Given the description of an element on the screen output the (x, y) to click on. 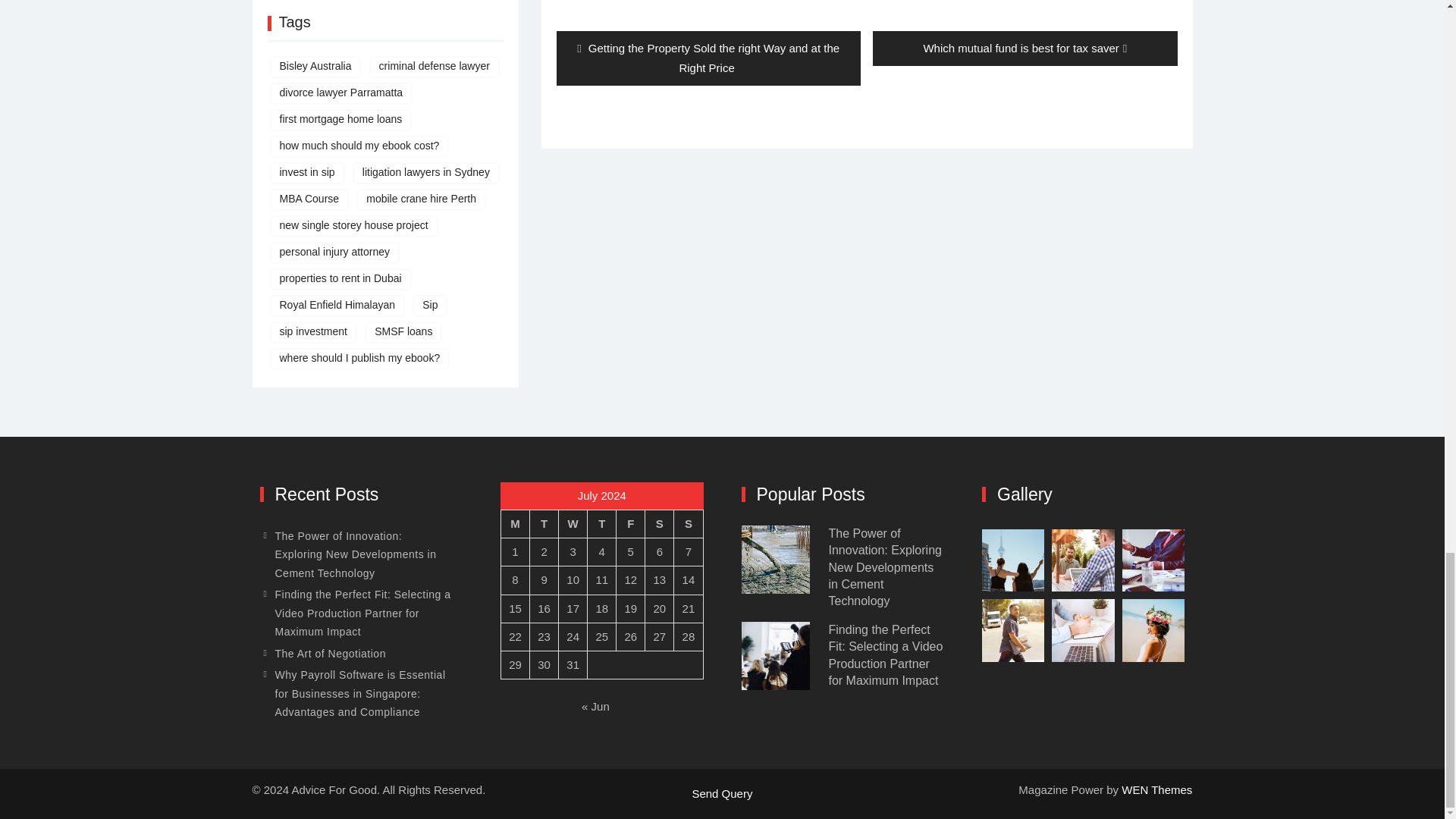
Friday (630, 523)
Tuesday (544, 523)
Wednesday (573, 523)
Thursday (601, 523)
Saturday (659, 523)
Monday (514, 523)
Sunday (688, 523)
